Given the description of an element on the screen output the (x, y) to click on. 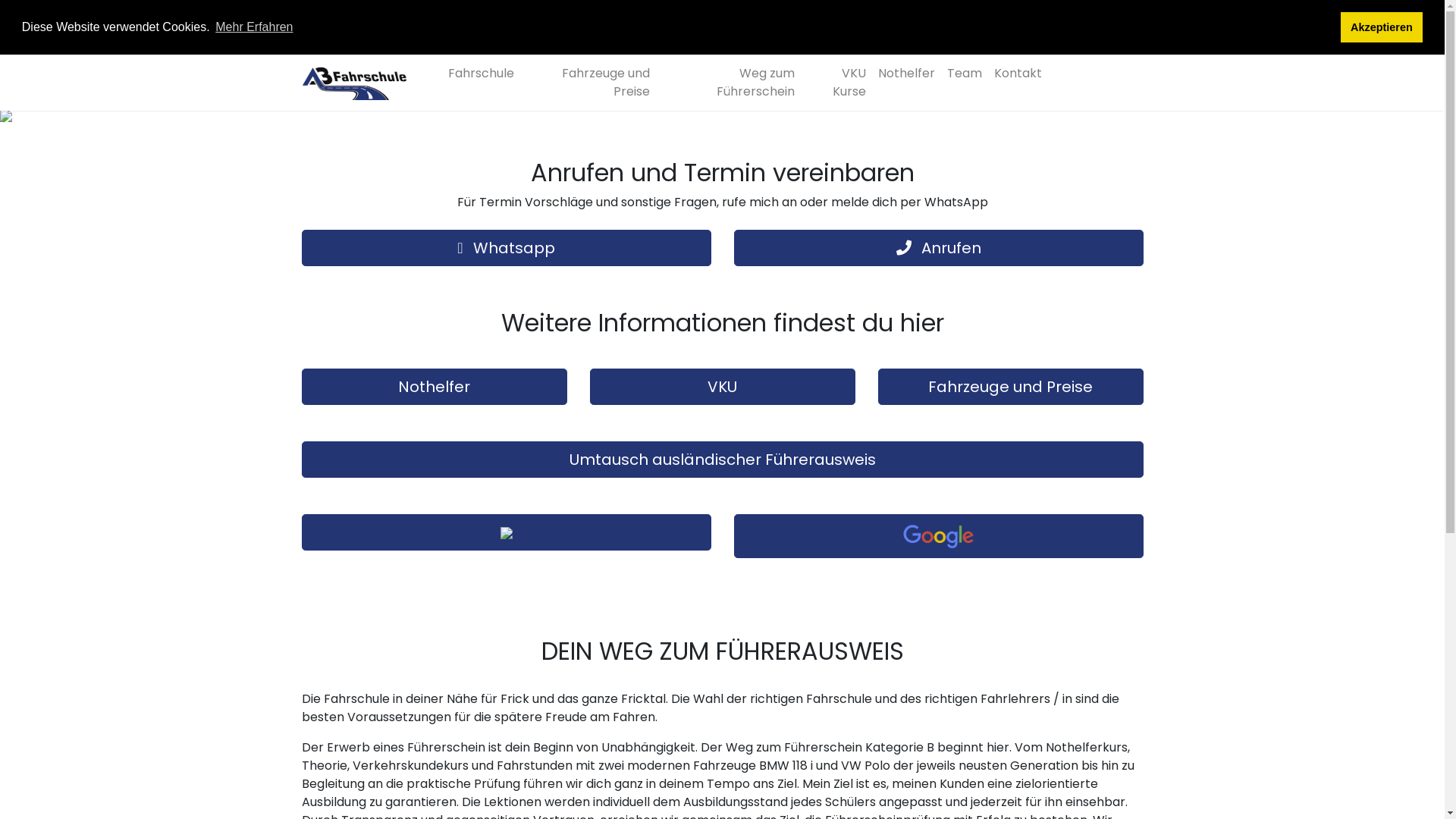
Fahrzeuge und Preise Element type: text (587, 82)
Whatsapp Element type: text (506, 247)
Fahrschule Element type: text (480, 73)
VKU Element type: text (722, 386)
Anrufen Element type: text (938, 247)
VKU Kurse Element type: text (836, 82)
Akzeptieren Element type: text (1381, 27)
Team Element type: text (963, 73)
Kontakt Element type: text (1017, 73)
Nothelfer Element type: text (906, 73)
Fahrzeuge und Preise Element type: text (1010, 386)
Nothelfer Element type: text (434, 386)
Mehr Erfahren Element type: text (254, 26)
